Given the description of an element on the screen output the (x, y) to click on. 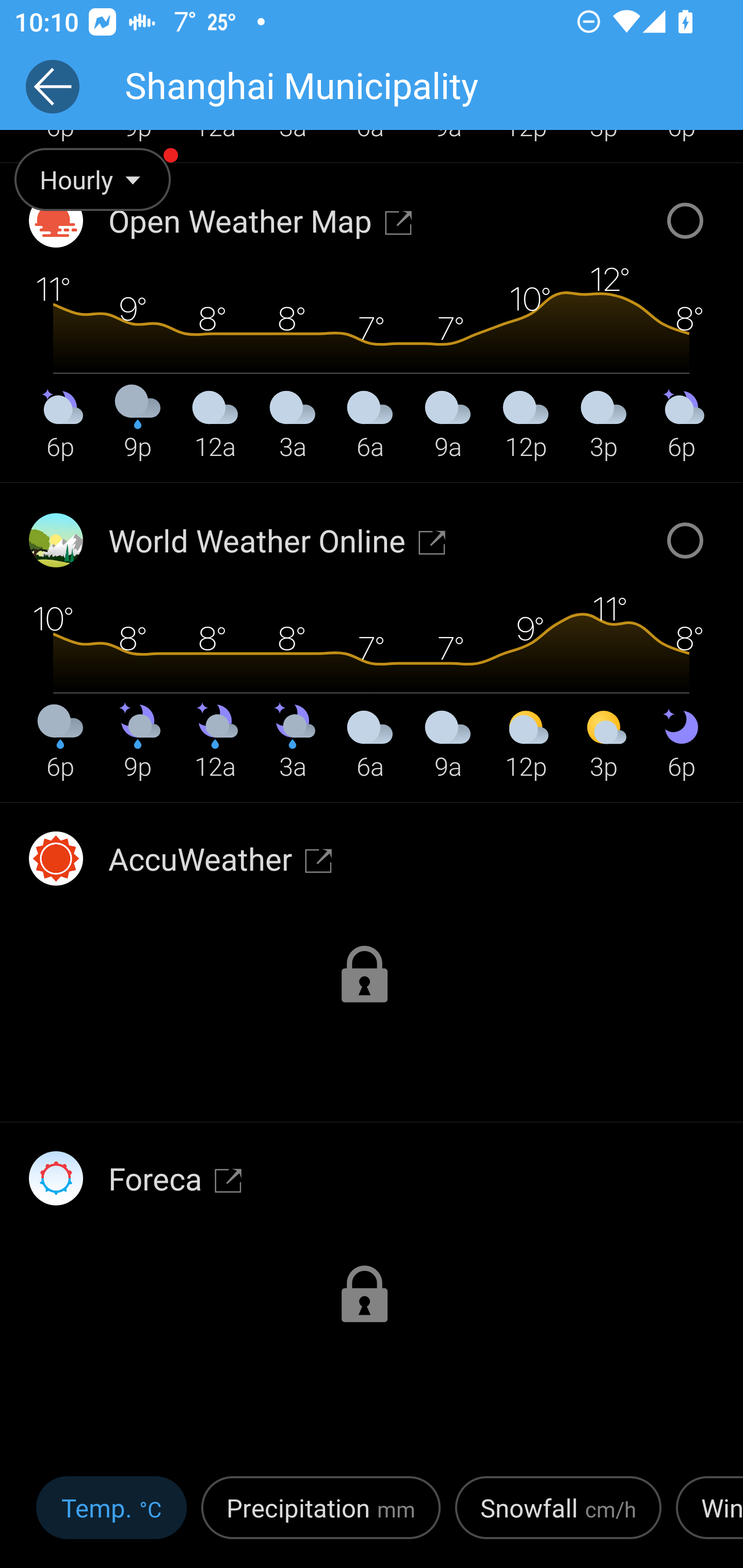
Hourly (103, 193)
6p 9p 12a 3a 6a 9a 12p 3p 6p (371, 321)
Open Weather Map  (261, 220)
6p 9p 12a 3a 6a 9a 12p 3p 6p (371, 641)
World Weather Online  (277, 540)
AccuWeather  (221, 858)
 (371, 988)
Foreca  (176, 1177)
 (371, 1308)
Temp. °C (110, 1514)
Precipitation mm (320, 1514)
Snowfall cm/h (558, 1514)
